Given the description of an element on the screen output the (x, y) to click on. 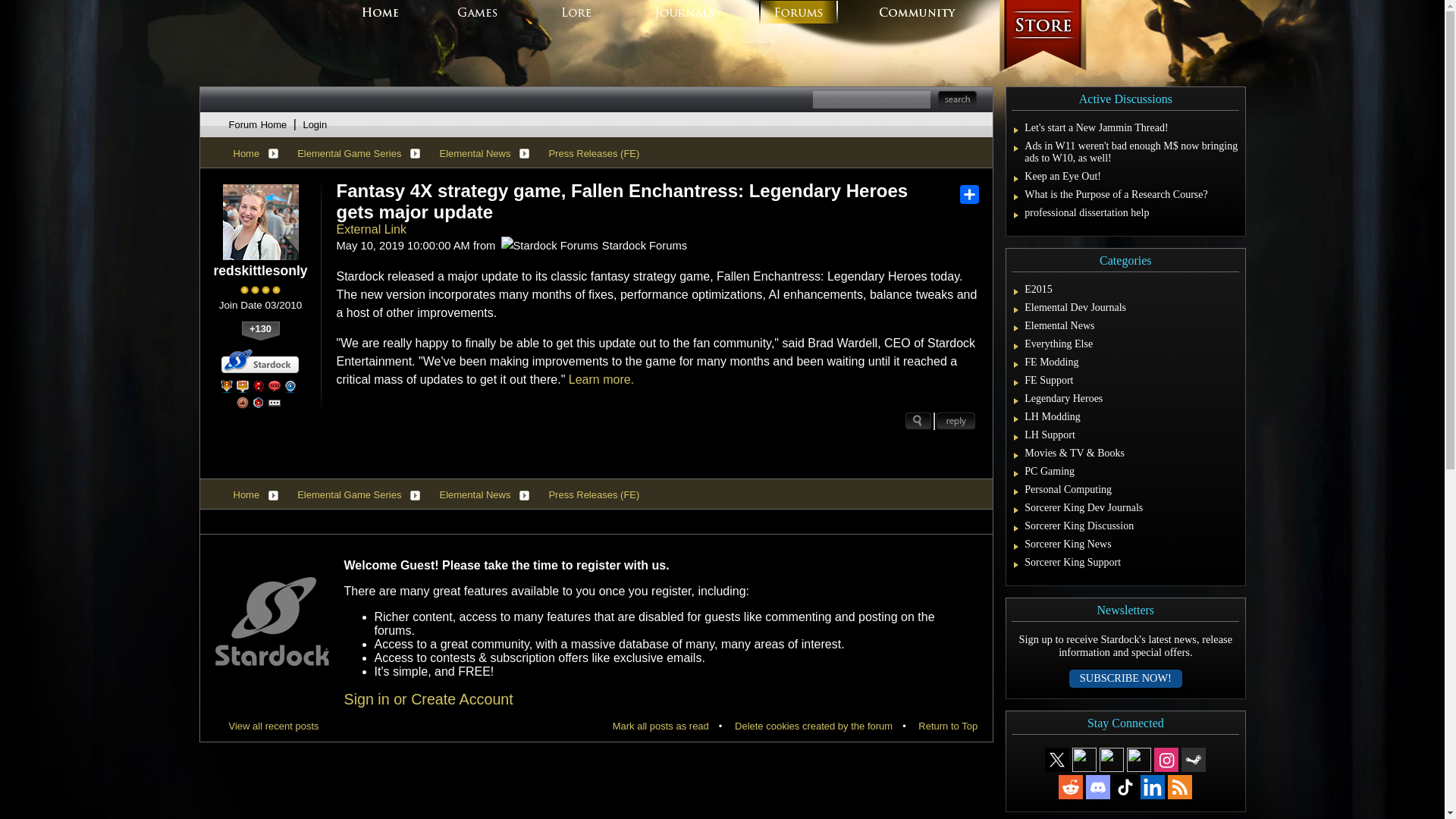
Login (314, 124)
Elemental Game Series (349, 494)
Active Commenter - Replied over 100 times (274, 386)
Click user name to view more options. (259, 270)
Home (246, 494)
Rank: 9 (260, 289)
Stardock on Twitter (1056, 759)
Learn more. (601, 379)
Loved - Received 100 Total Karma (241, 402)
View redskittlesonly's Karma (260, 331)
